Given the description of an element on the screen output the (x, y) to click on. 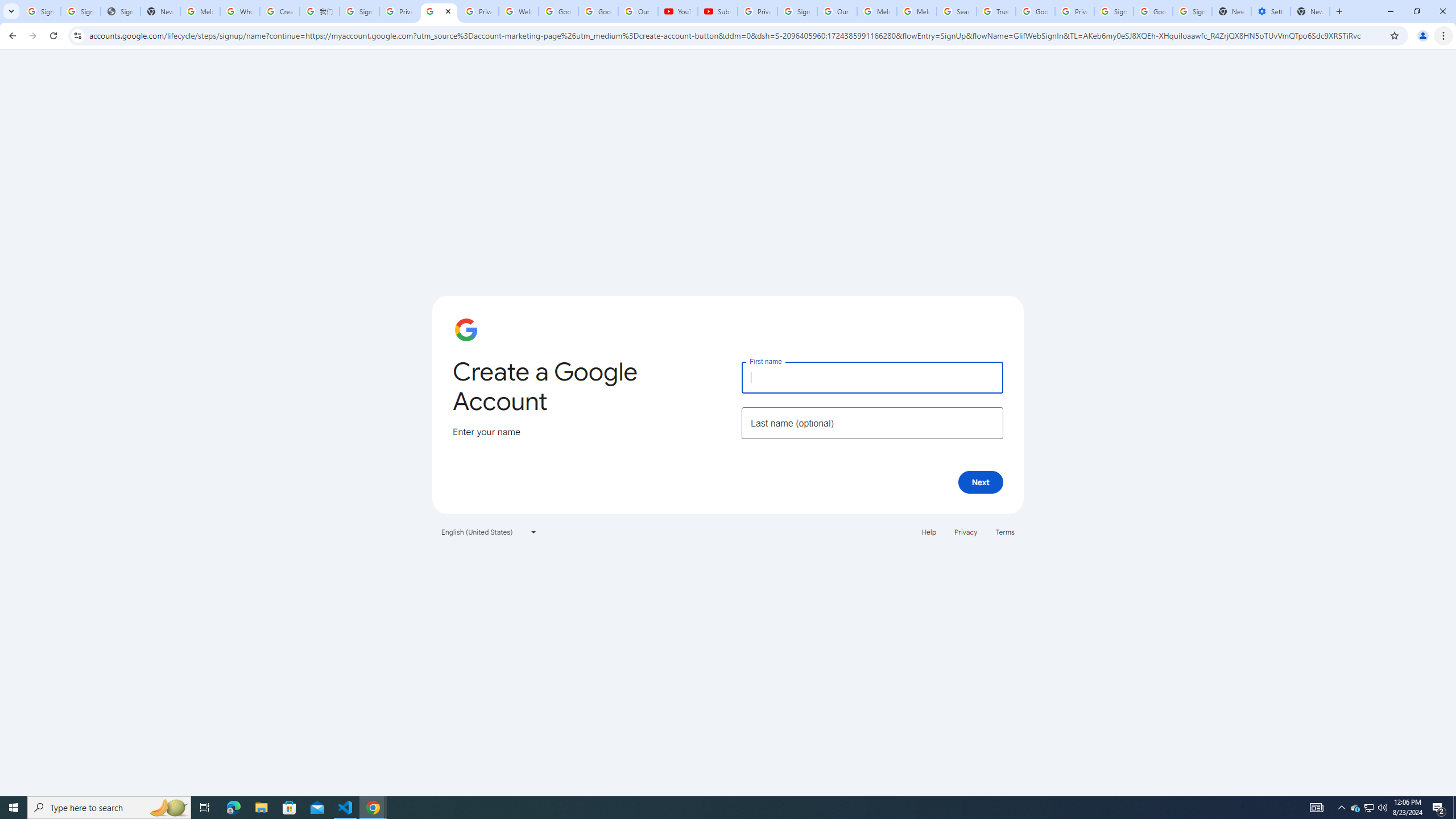
Google Ads - Sign in (1034, 11)
Trusted Information and Content - Google Safety Center (995, 11)
Google Cybersecurity Innovations - Google Safety Center (1152, 11)
Welcome to My Activity (518, 11)
